Given the description of an element on the screen output the (x, y) to click on. 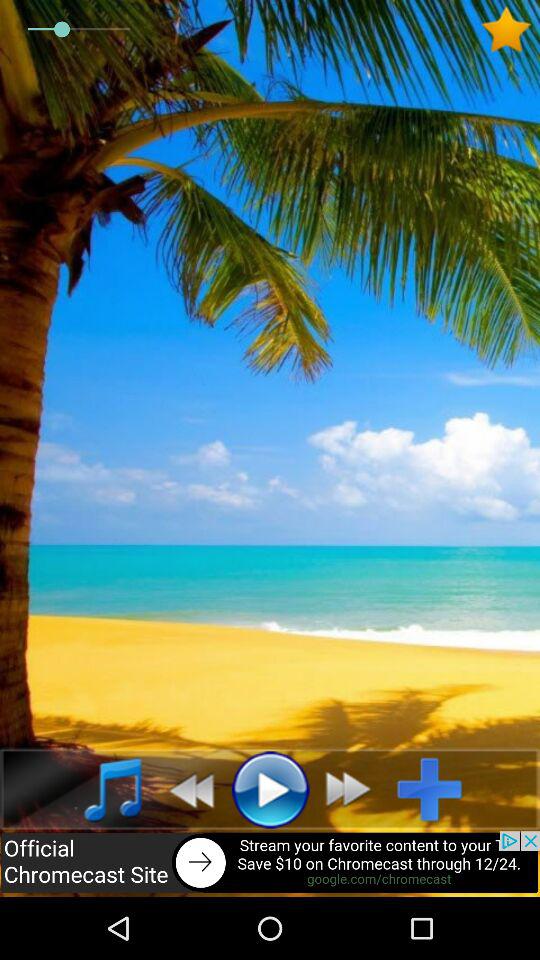
switch autoplay option (353, 789)
